Given the description of an element on the screen output the (x, y) to click on. 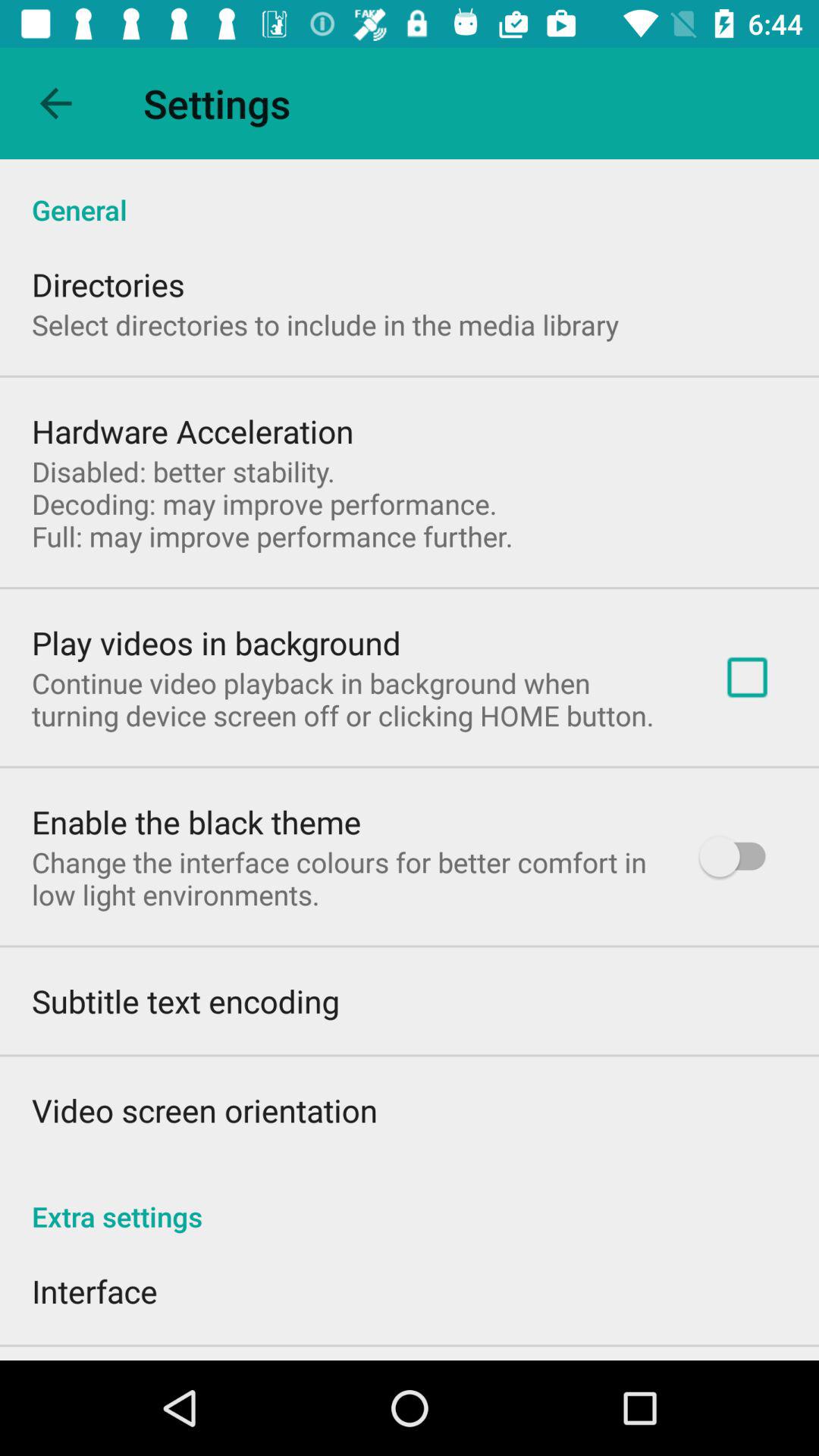
scroll to continue video playback item (353, 699)
